Given the description of an element on the screen output the (x, y) to click on. 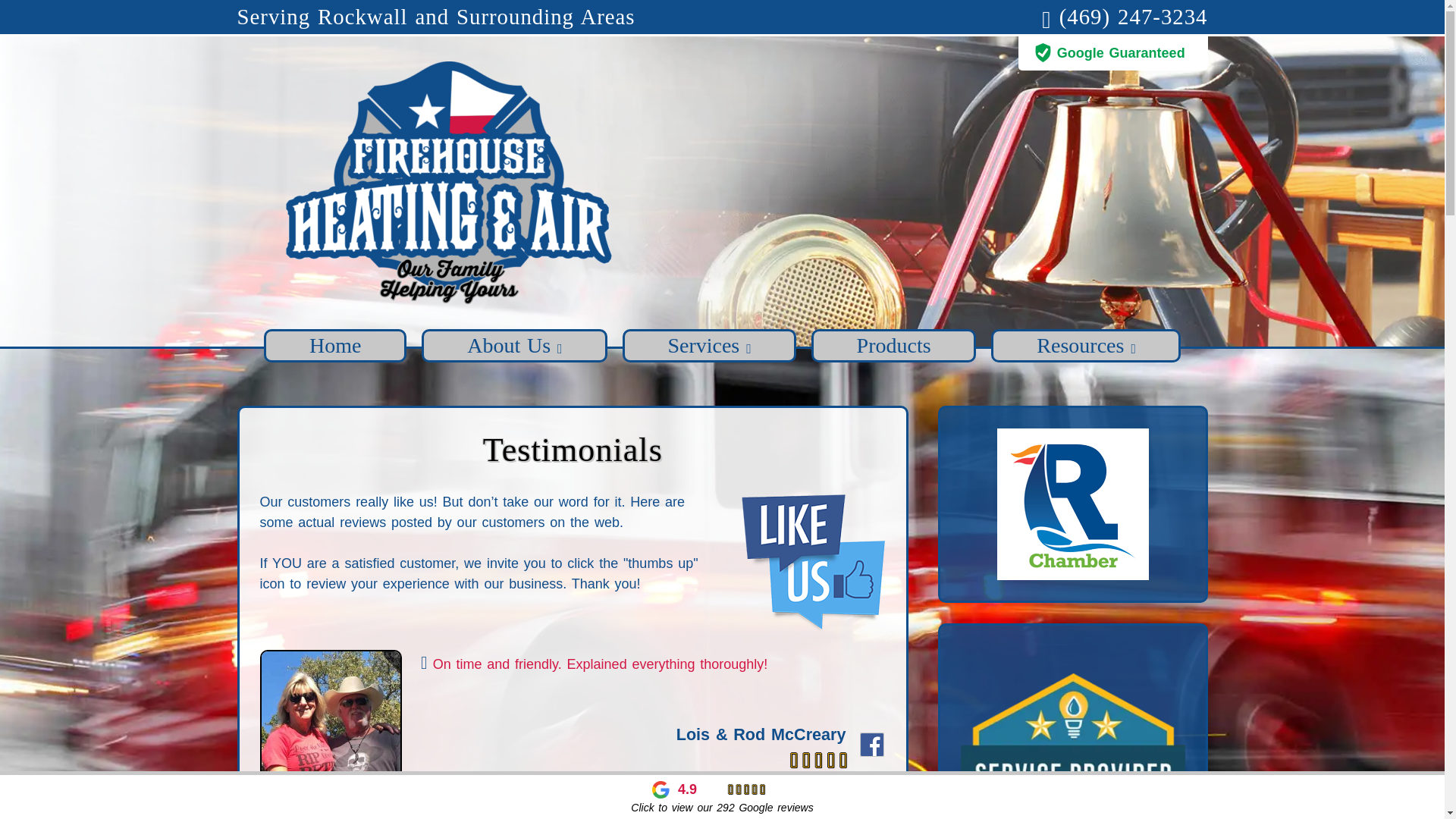
About Us (514, 345)
products (893, 345)
Products (893, 345)
Home (334, 345)
Services (709, 345)
